Given the description of an element on the screen output the (x, y) to click on. 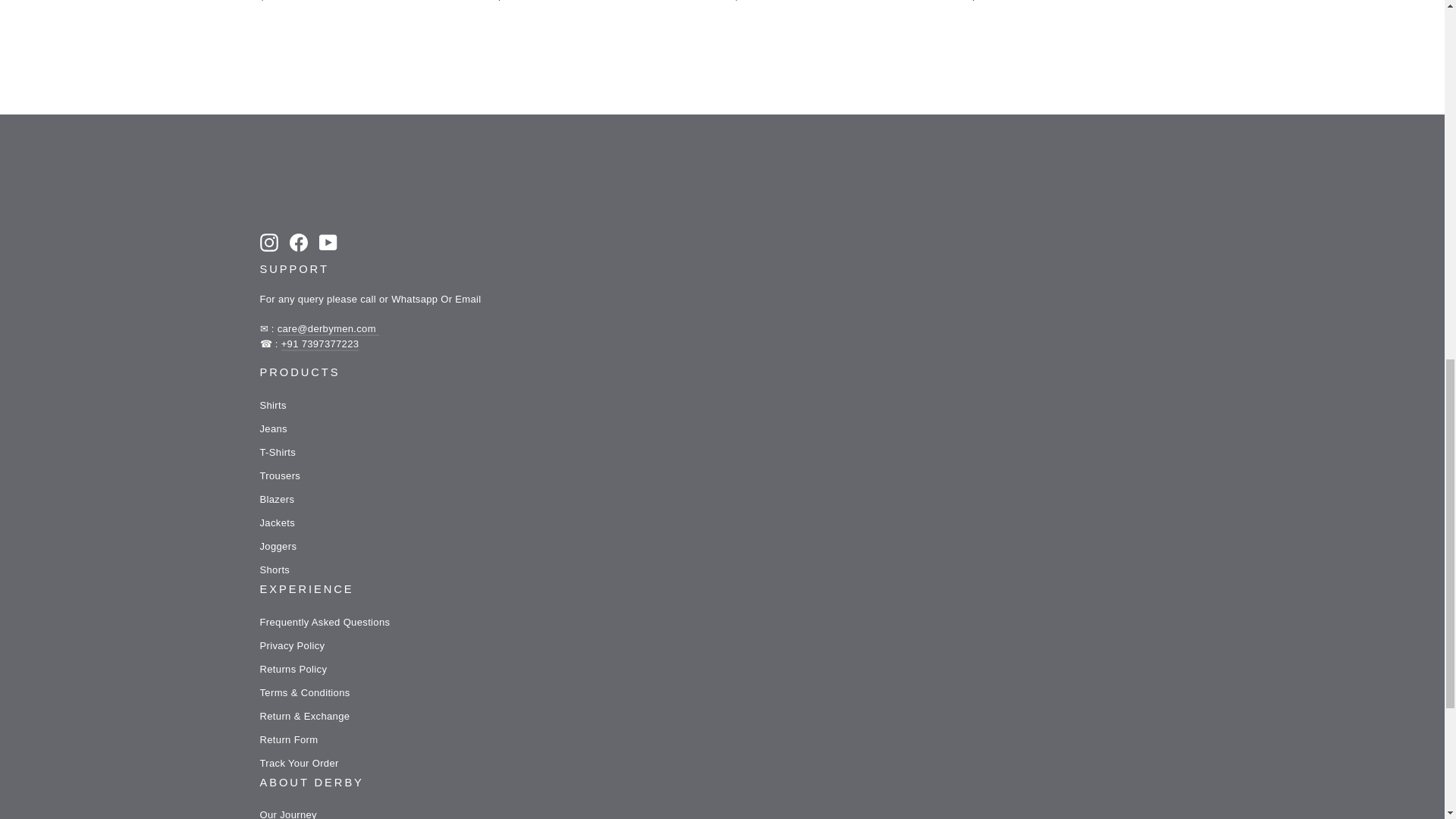
Derby Clothing Pvt. Ltd. on Instagram (268, 242)
instagram (268, 242)
Derby Clothing Pvt. Ltd. on Facebook (298, 242)
Derby Clothing Pvt. Ltd. on YouTube (327, 242)
